Given the description of an element on the screen output the (x, y) to click on. 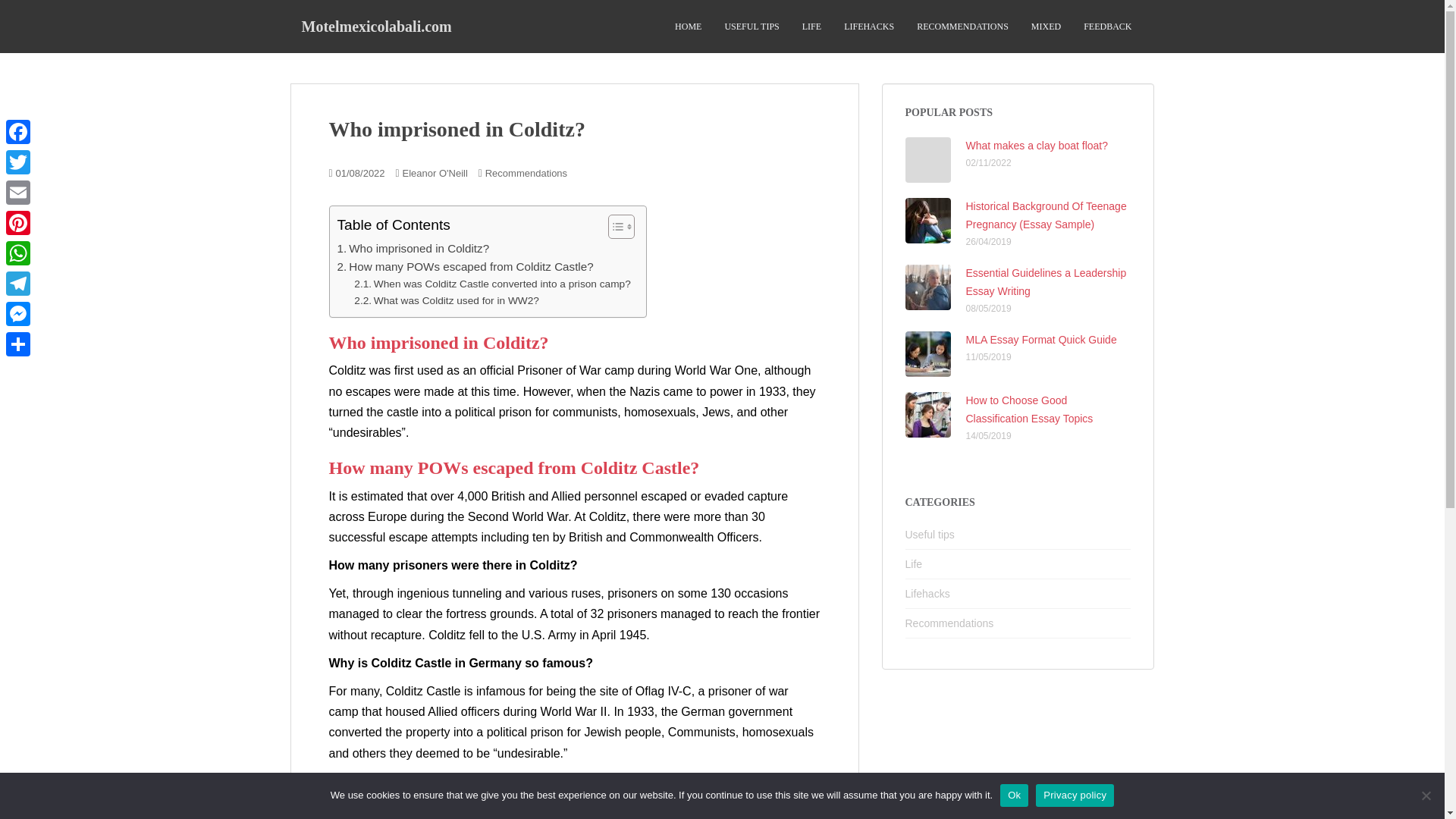
USEFUL TIPS (750, 26)
FEEDBACK (1107, 26)
LIFEHACKS (868, 26)
How many POWs escaped from Colditz Castle? (464, 266)
Recommendations (525, 173)
When was Colditz Castle converted into a prison camp? (491, 284)
Useful tips (930, 534)
Eleanor O'Neill (434, 173)
LIFE (811, 26)
Who imprisoned in Colditz? (412, 248)
What was Colditz used for in WW2? (445, 300)
Twitter (17, 162)
Motelmexicolabali.com (376, 26)
MIXED (1045, 26)
What was Colditz used for in WW2? (445, 300)
